Given the description of an element on the screen output the (x, y) to click on. 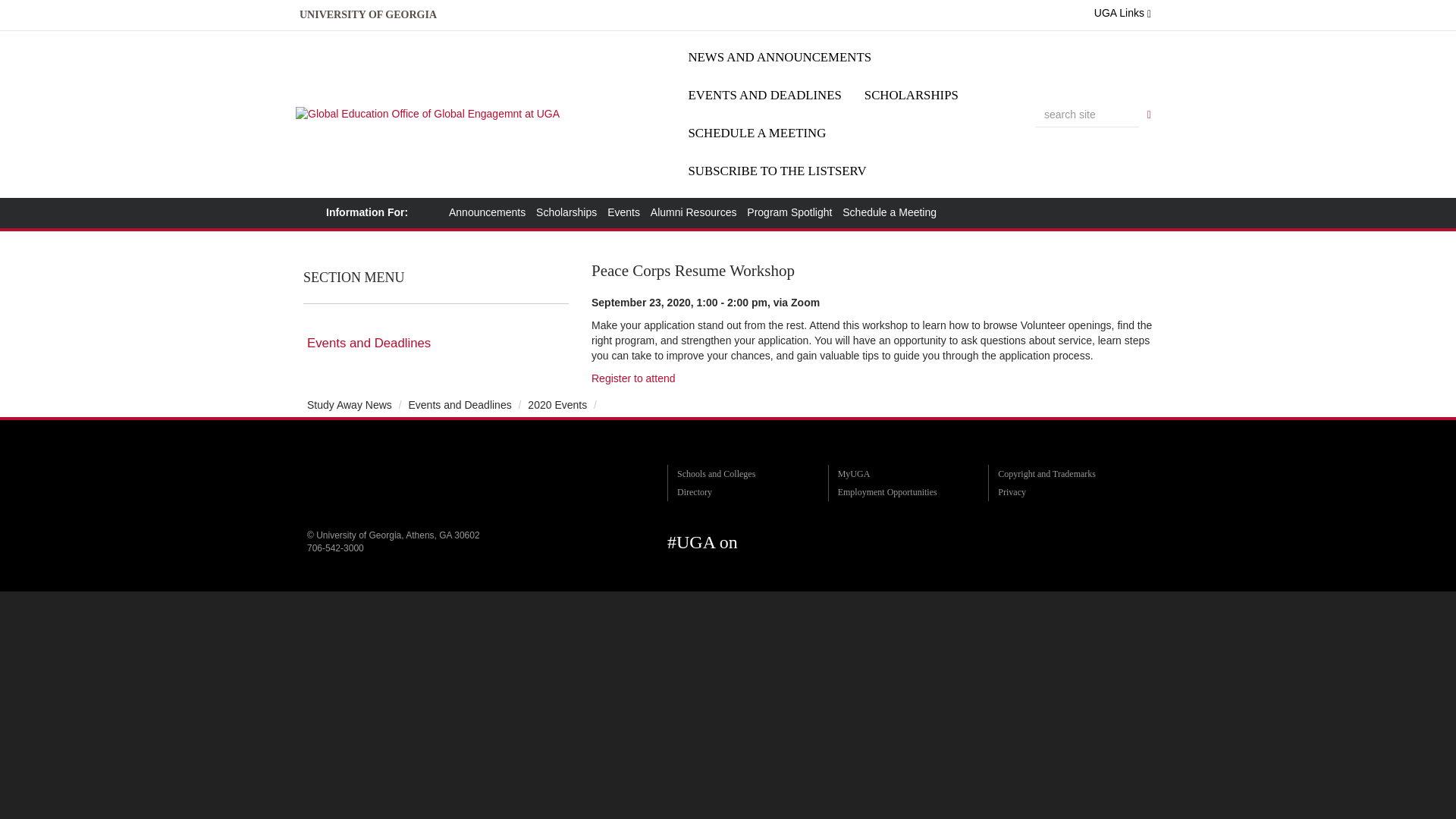
UGA Links (1122, 13)
UNIVERSITY OF GEORGIA (368, 15)
NEWS AND ANNOUNCEMENTS (779, 57)
